Given the description of an element on the screen output the (x, y) to click on. 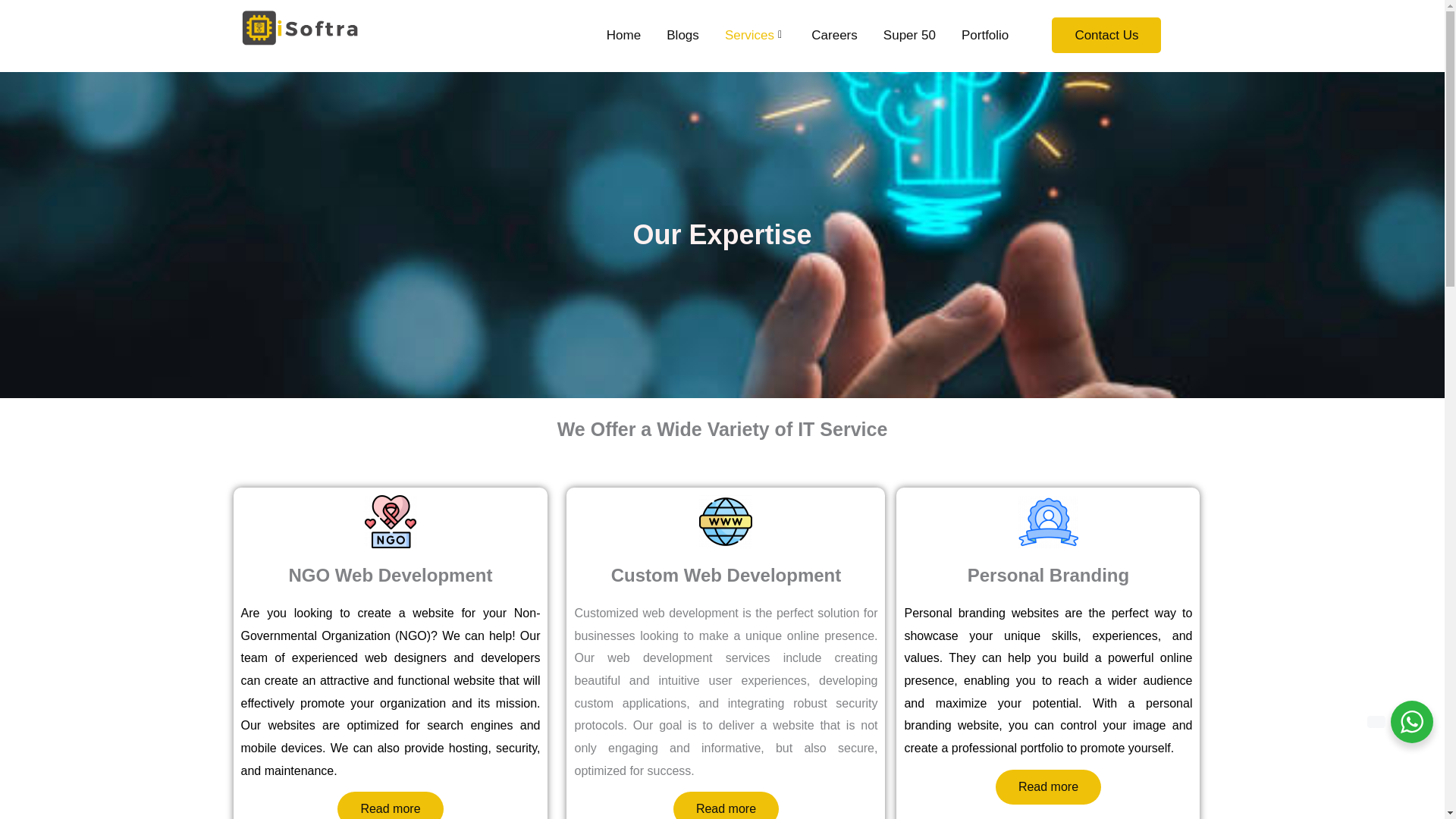
Careers (833, 35)
Home (622, 35)
Read more (389, 805)
world-wide-web (725, 521)
Super 50 (909, 35)
Portfolio (984, 35)
Services (755, 35)
Blogs (682, 35)
brand-identity (1047, 521)
Contact Us (1105, 35)
